Given the description of an element on the screen output the (x, y) to click on. 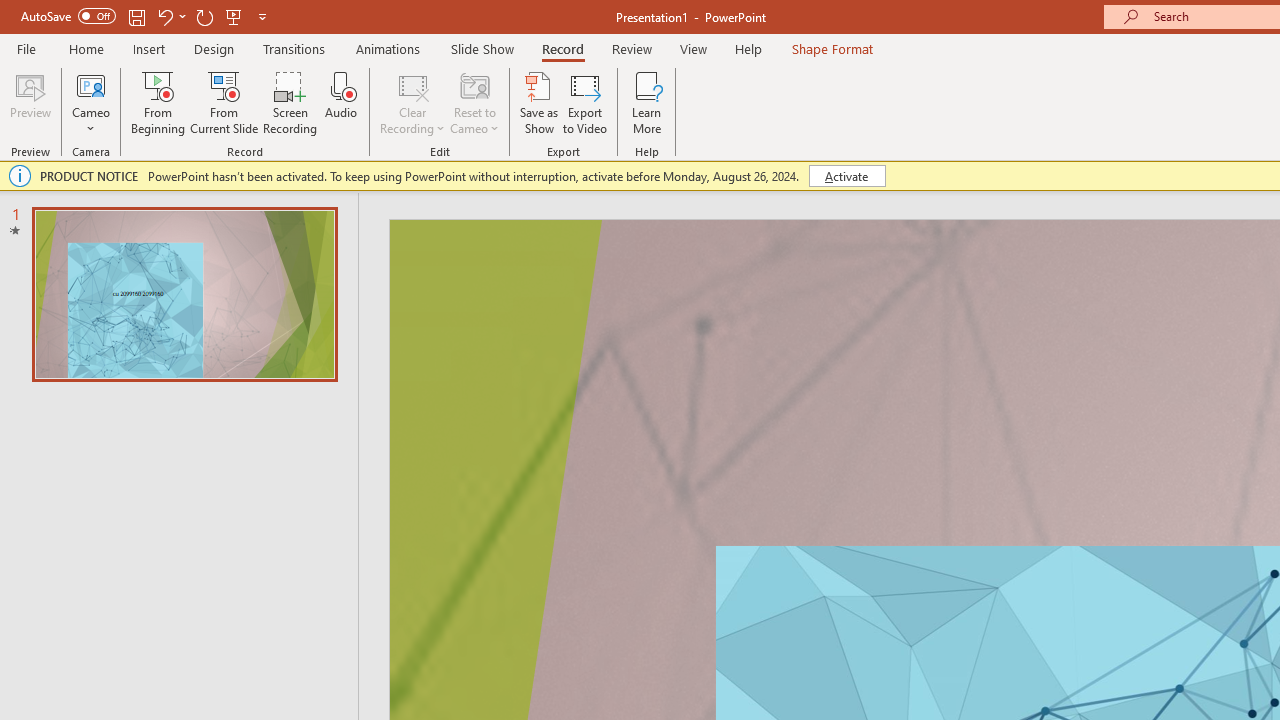
File Tab (26, 48)
From Current Slide... (224, 102)
View (693, 48)
System (10, 11)
Export to Video (585, 102)
Learn More (646, 102)
AutoSave (68, 16)
Activate (846, 175)
Reset to Cameo (474, 102)
Slide (184, 294)
Cameo (91, 84)
Clear Recording (412, 102)
Screen Recording (290, 102)
Home (86, 48)
